Given the description of an element on the screen output the (x, y) to click on. 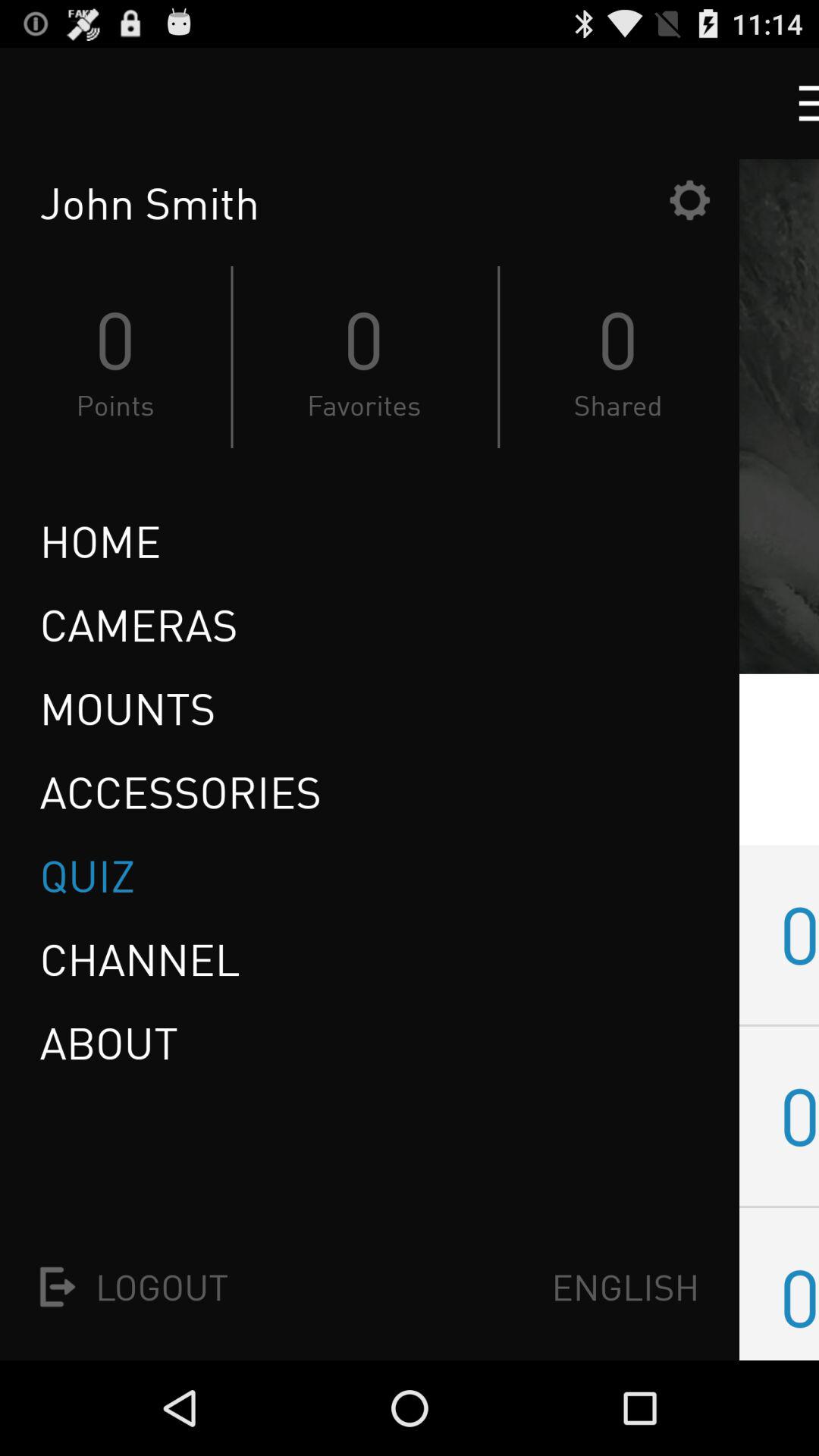
open icon above logout (108, 1042)
